Given the description of an element on the screen output the (x, y) to click on. 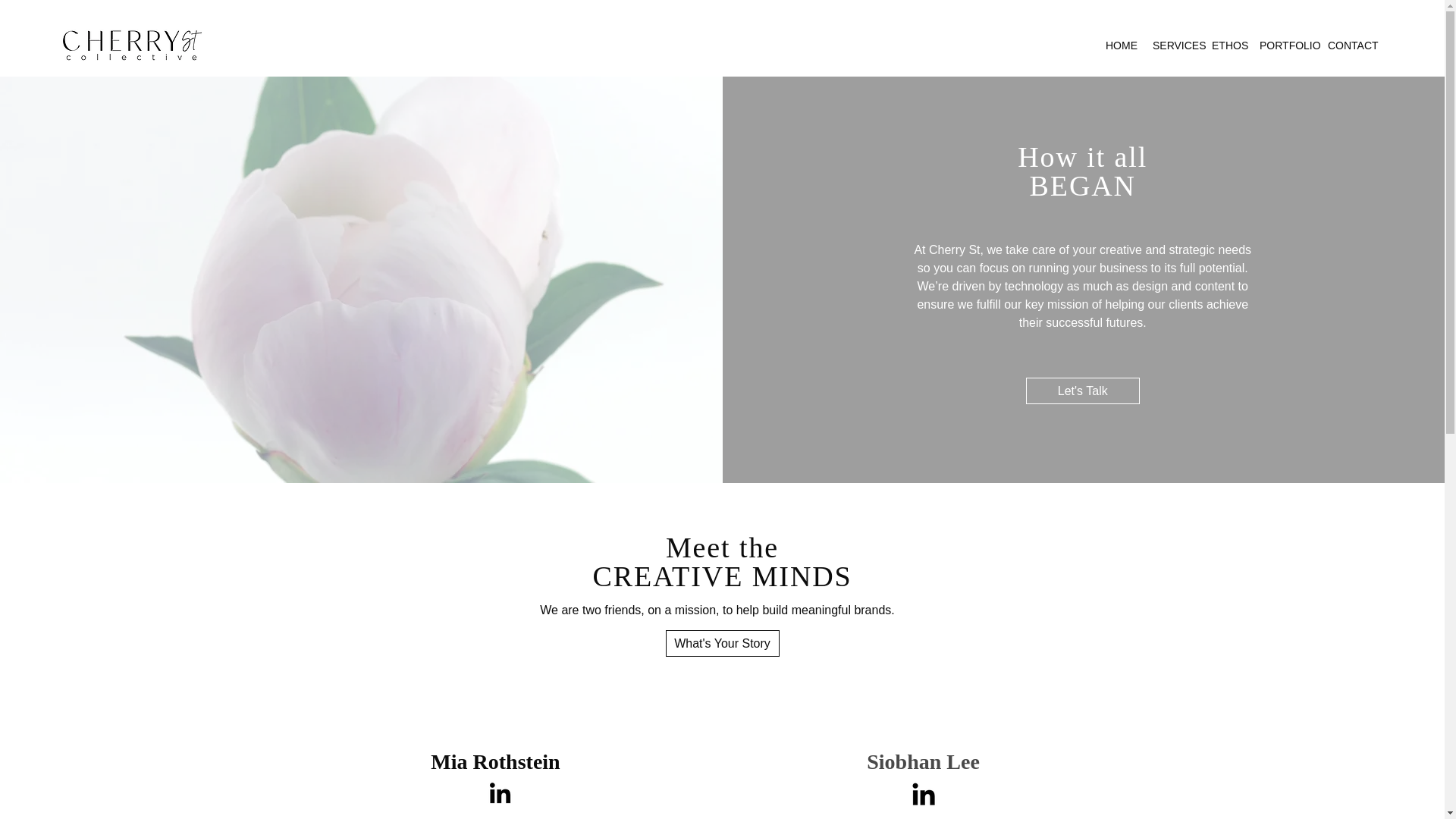
HOME (1120, 45)
CONTACT (1352, 45)
What's Your Story (721, 642)
ETHOS (1228, 45)
PORTFOLIO (1286, 45)
Let's Talk (1083, 390)
SERVICES (1174, 45)
